Given the description of an element on the screen output the (x, y) to click on. 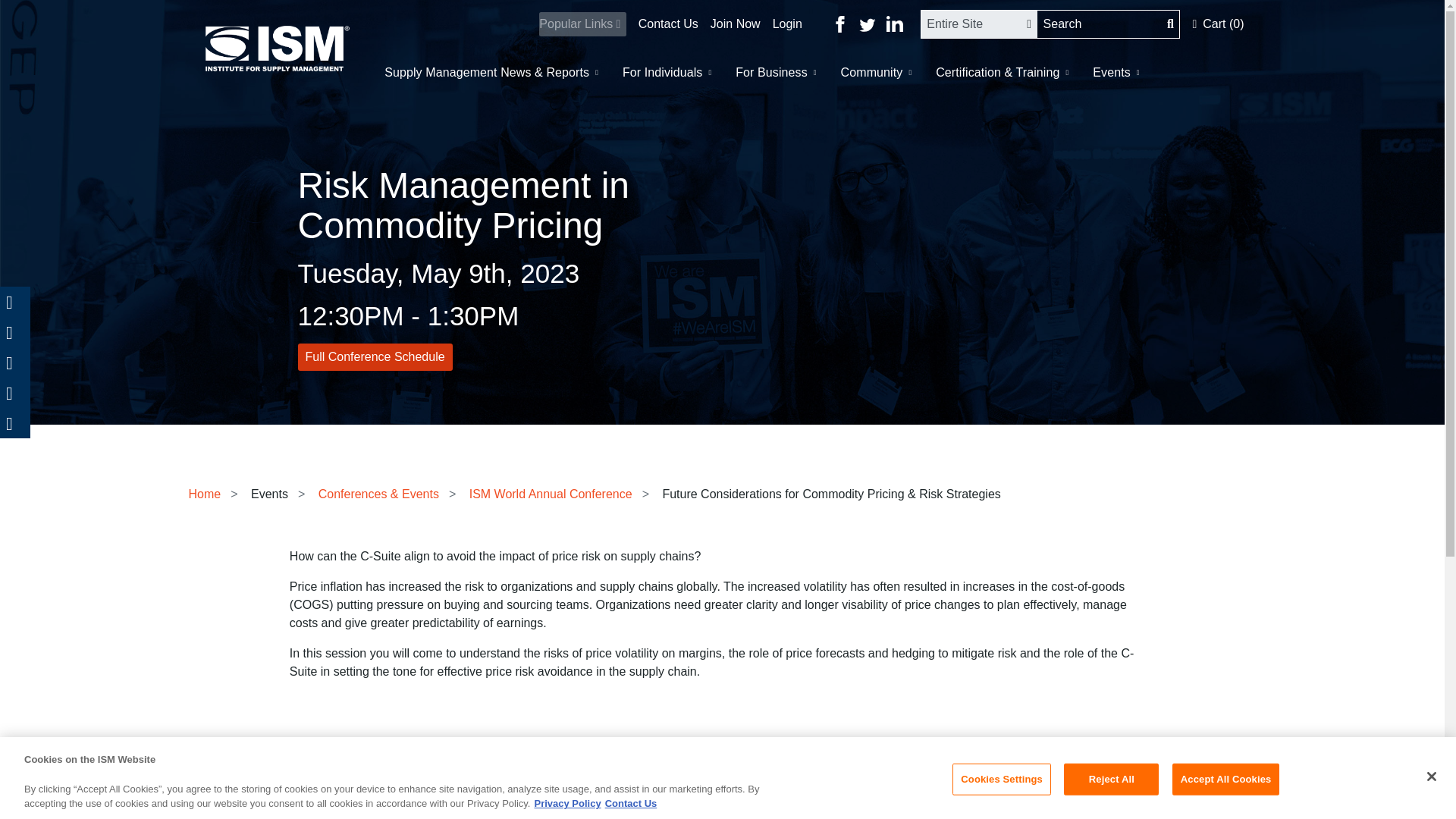
Email This (15, 362)
Facebook (15, 331)
LinkedIn (15, 392)
Join Now (729, 24)
Contact Us (662, 24)
Popular Links (582, 24)
Login (781, 24)
More Options (15, 422)
